Given the description of an element on the screen output the (x, y) to click on. 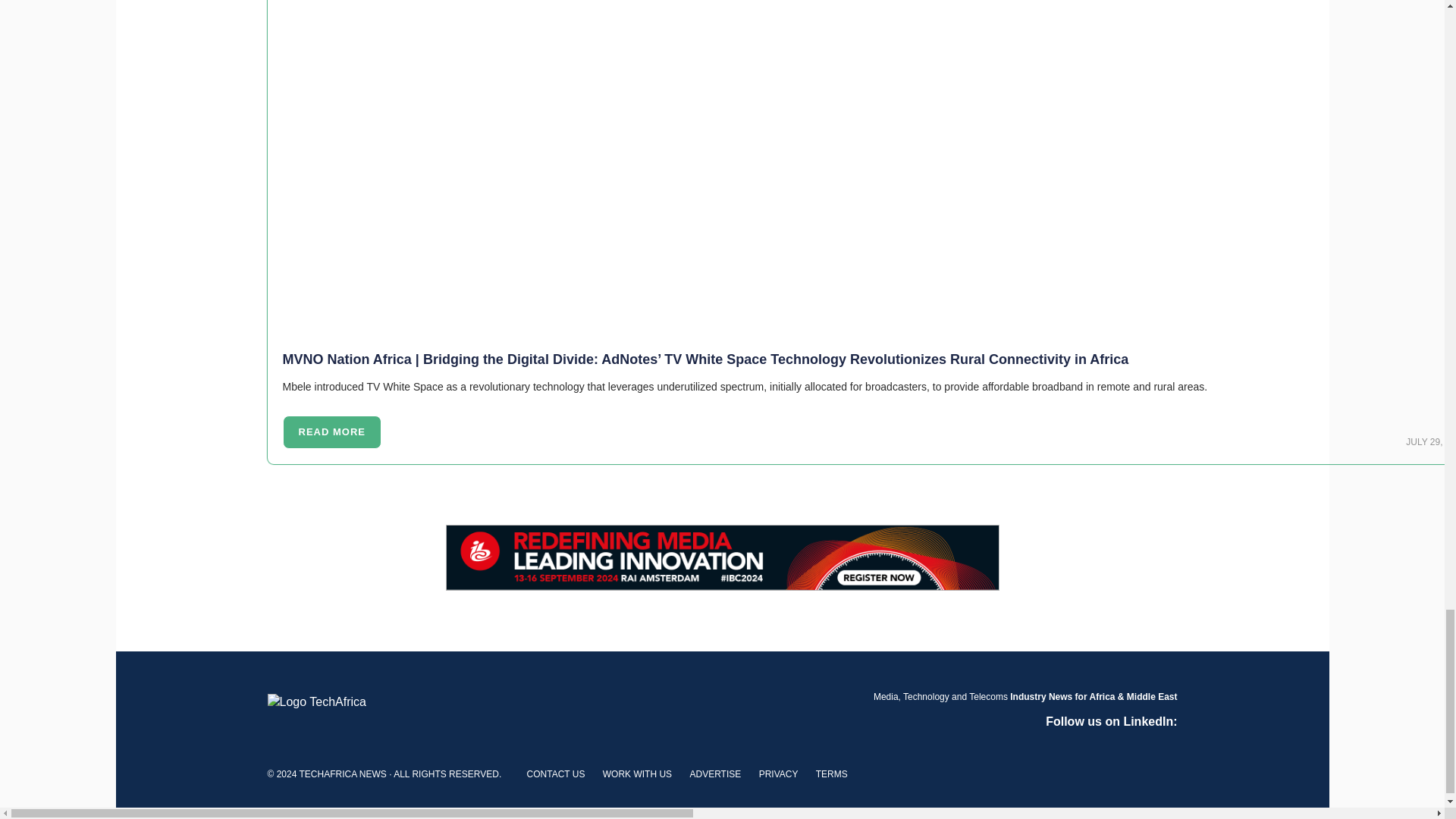
ADVERTISE (714, 774)
TERMS (831, 774)
CONTACT US (556, 774)
PRIVACY (777, 774)
WORK WITH US (636, 774)
